Given the description of an element on the screen output the (x, y) to click on. 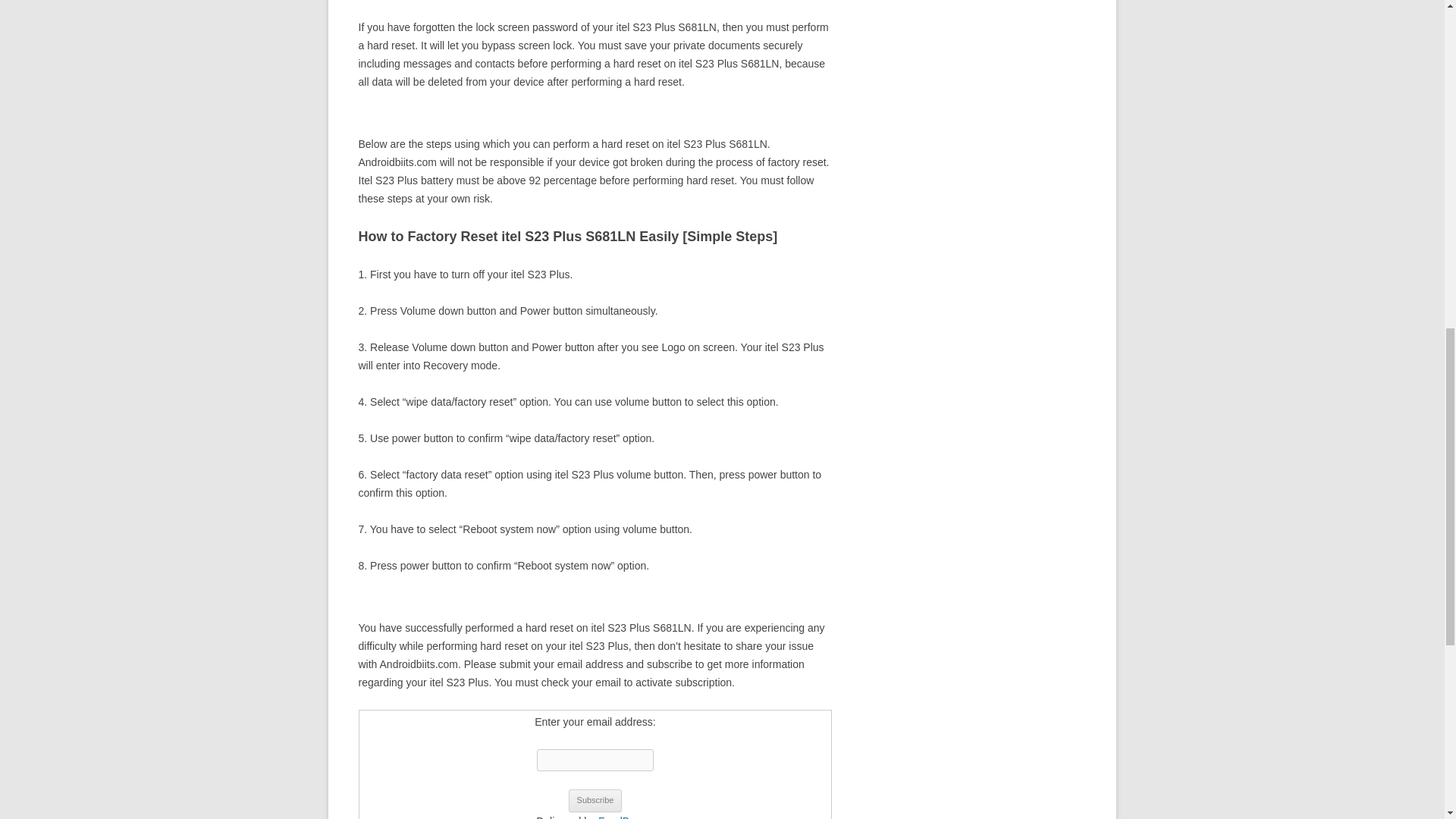
FeedBurner (625, 816)
Subscribe (596, 800)
Subscribe (596, 800)
